Given the description of an element on the screen output the (x, y) to click on. 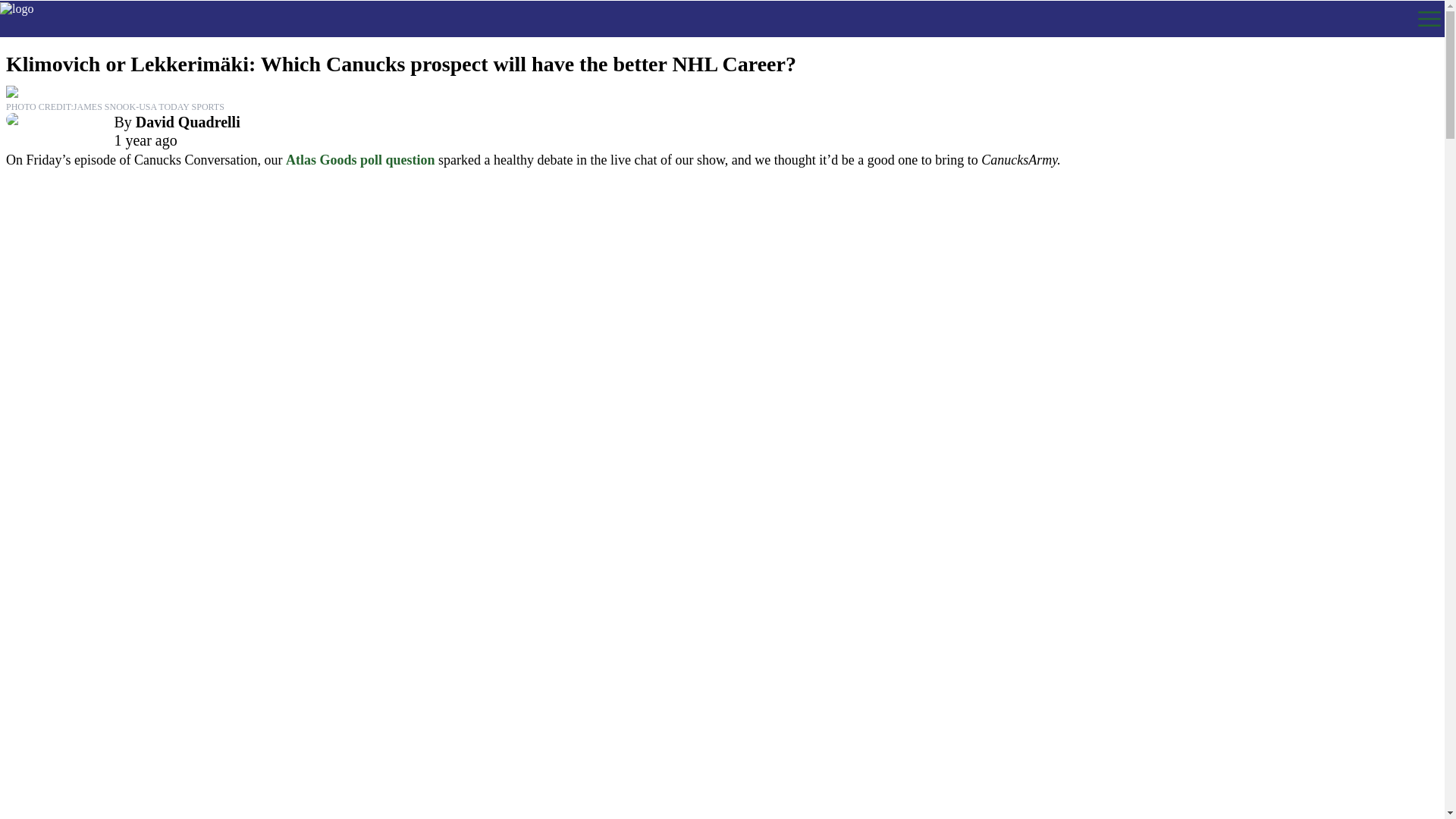
Atlas Goods poll question (360, 159)
David Quadrelli (187, 121)
